Given the description of an element on the screen output the (x, y) to click on. 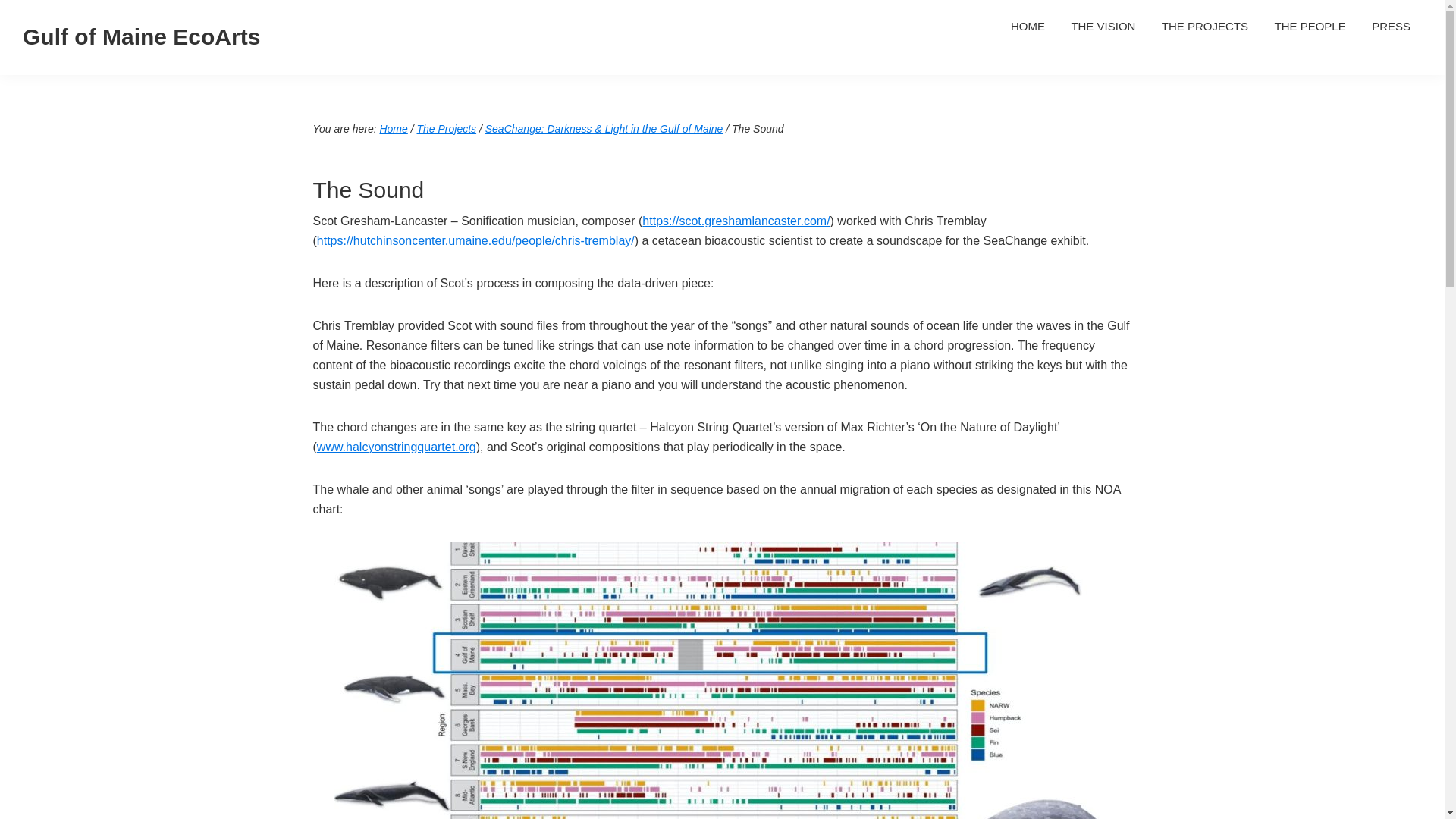
HOME (1027, 25)
www.halcyonstringquartet.org (396, 445)
THE VISION (1103, 25)
PRESS (1390, 25)
THE PEOPLE (1309, 25)
THE PROJECTS (1204, 25)
Gulf of Maine EcoArts (141, 36)
The Projects (446, 128)
Home (392, 128)
